Given the description of an element on the screen output the (x, y) to click on. 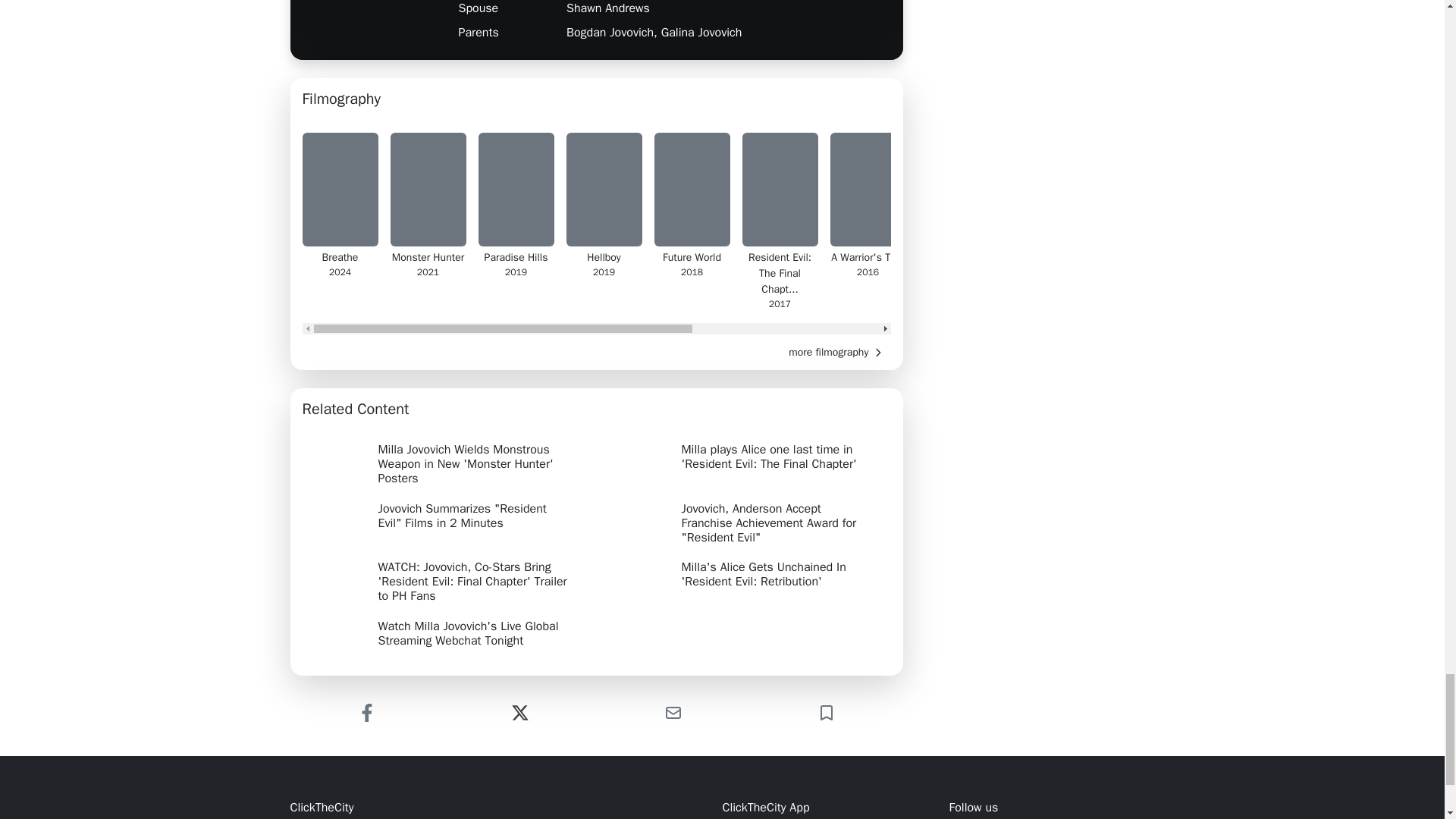
Watch Milla Jovovich's Live Global Streaming Webchat Tonight (443, 633)
Facebook (366, 712)
E-mail (672, 712)
Twitter (519, 712)
Milla's Alice Gets Unchained In 'Resident Evil: Retribution' (747, 577)
Bookmark (825, 712)
